Given the description of an element on the screen output the (x, y) to click on. 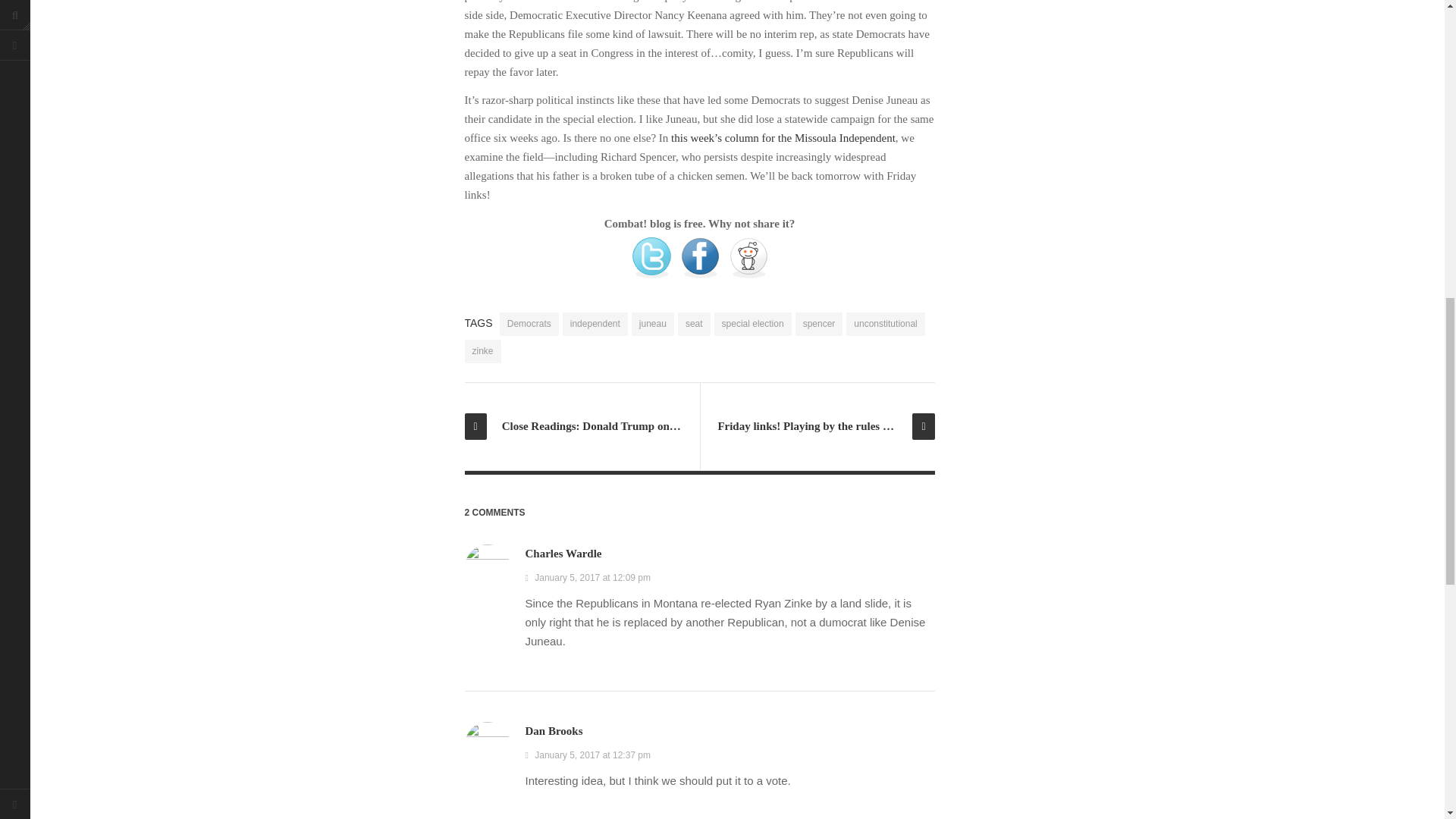
special election (753, 323)
Democrats (529, 323)
Reddit (747, 257)
January 5, 2017 at 12:37 pm (587, 754)
seat (694, 323)
independent (594, 323)
Twitter (650, 257)
spencer (818, 323)
Facebook (699, 257)
zinke (482, 351)
unconstitutional (884, 323)
Dan Brooks (553, 730)
January 5, 2017 at 12:09 pm (587, 577)
juneau (652, 323)
